Given the description of an element on the screen output the (x, y) to click on. 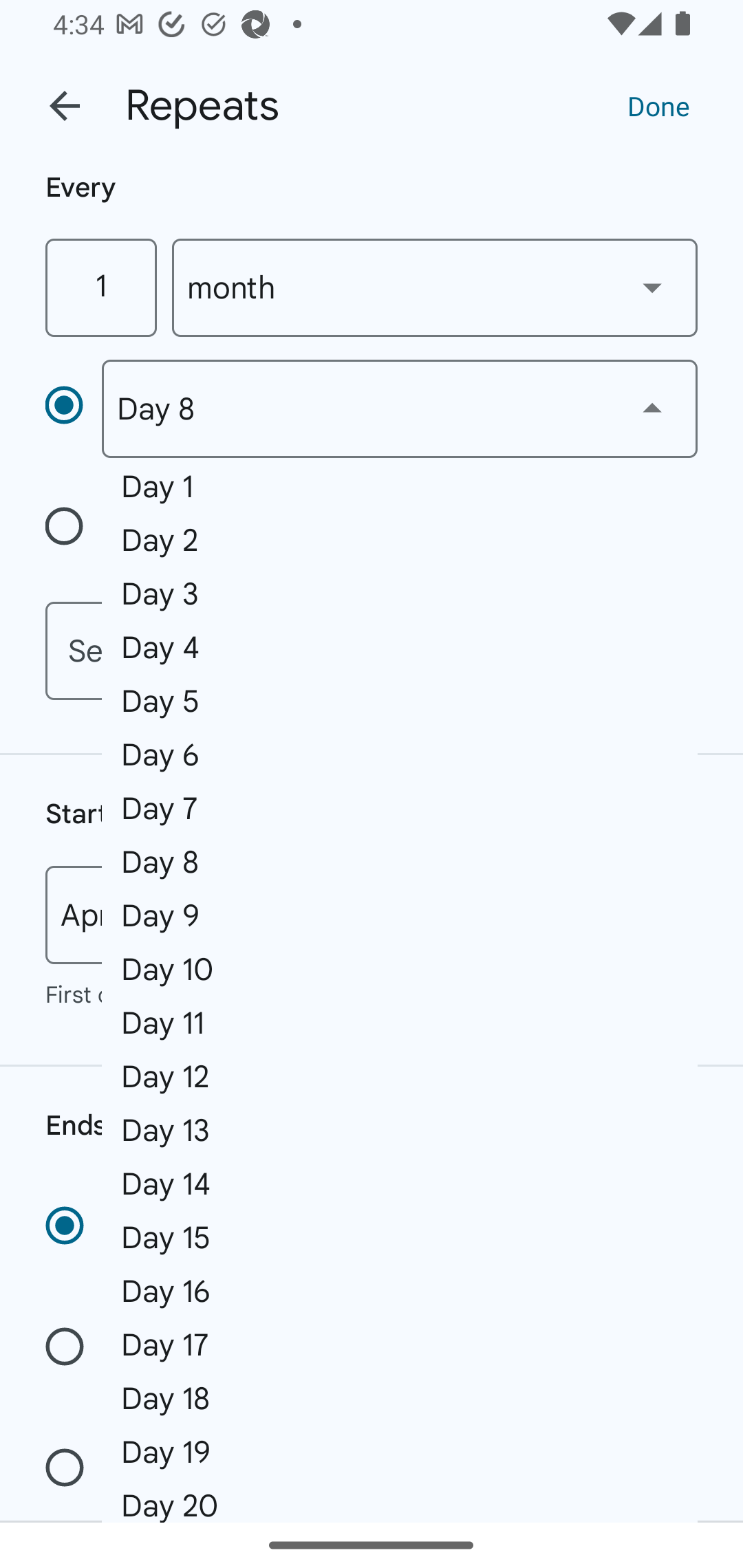
Back (64, 105)
Done (658, 105)
1 (100, 287)
month (434, 287)
Show dropdown menu (652, 286)
Day 8 (399, 408)
Show dropdown menu (652, 408)
Repeat monthly on a specific day of the month (73, 408)
Repeat monthly on a specific weekday (73, 529)
